Given the description of an element on the screen output the (x, y) to click on. 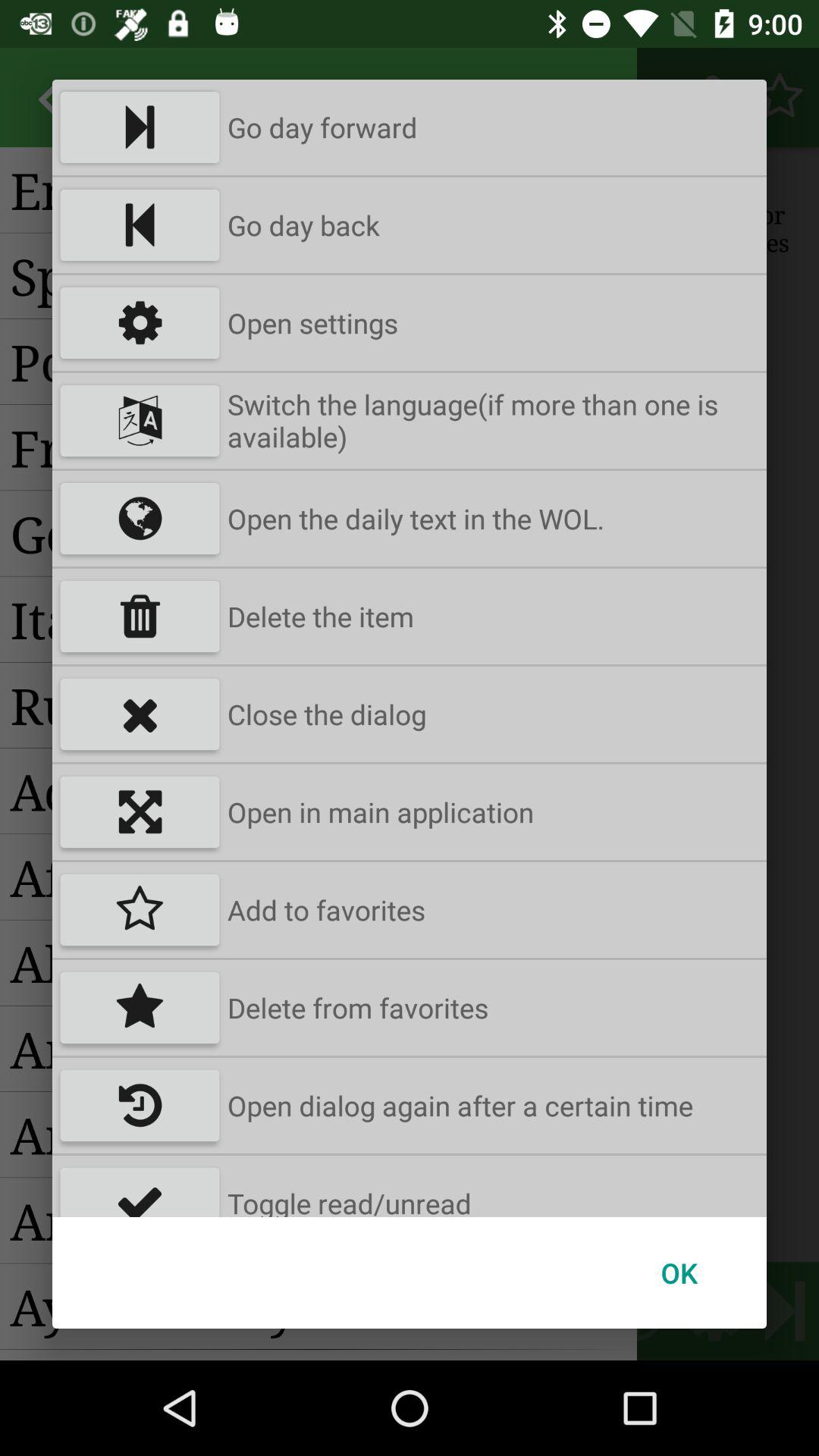
flip to ok item (678, 1272)
